Given the description of an element on the screen output the (x, y) to click on. 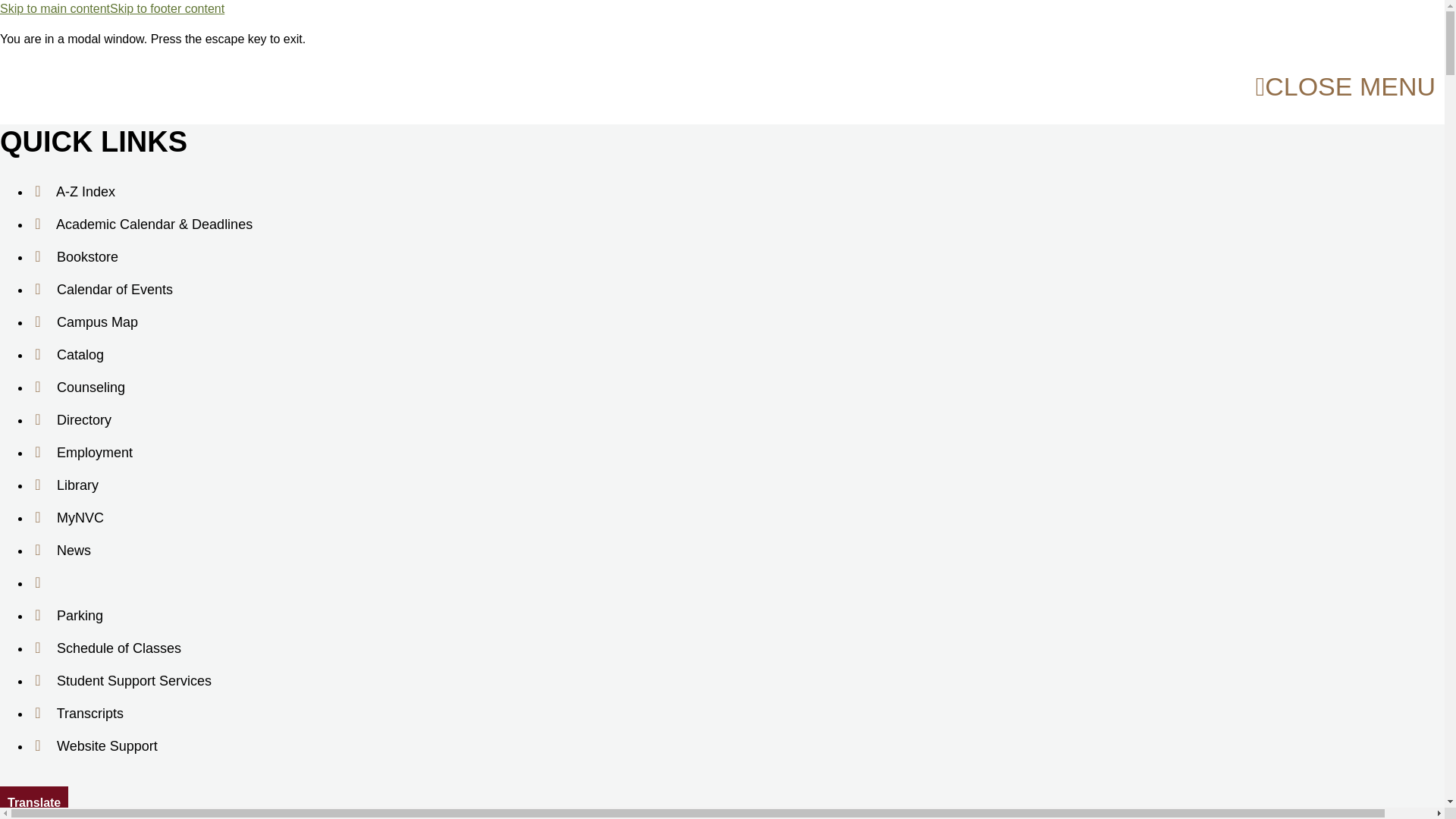
Counseling (77, 387)
Website Support (93, 745)
Calendar of Events (101, 288)
Transcripts (76, 713)
News (60, 549)
CLOSE MENU (1345, 86)
Schedule of Classes (105, 648)
Skip to main content (55, 8)
Student Support Services (120, 680)
Parking (66, 614)
